Given the description of an element on the screen output the (x, y) to click on. 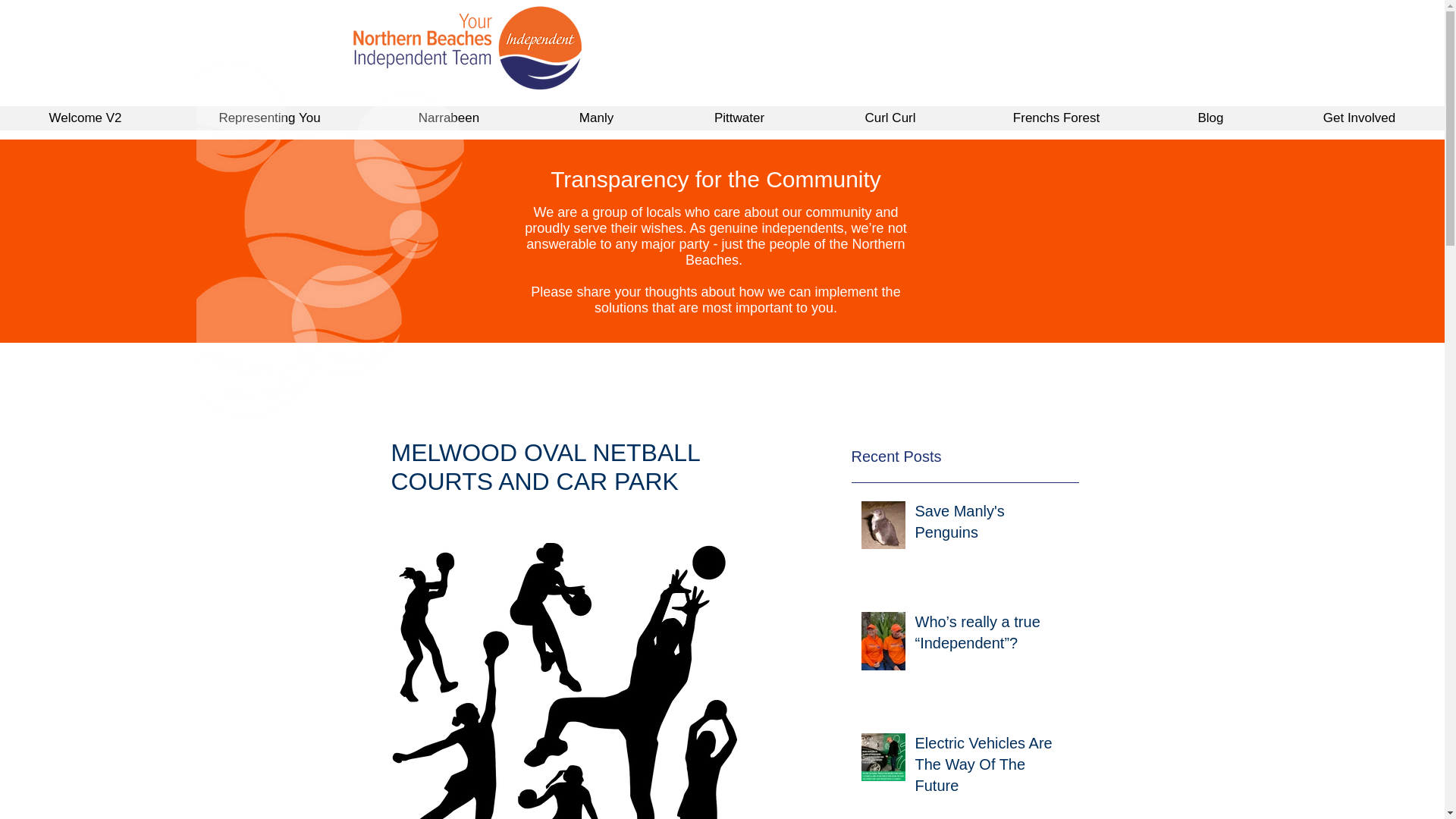
Pittwater (739, 122)
Manly (596, 122)
Frenchs Forest (1056, 122)
Blog (1210, 122)
Save Manly's Penguins (991, 524)
Representing You (269, 122)
Welcome V2 (85, 122)
Narrabeen (448, 122)
Curl Curl (890, 122)
Electric Vehicles Are The Way Of The Future (991, 767)
